Given the description of an element on the screen output the (x, y) to click on. 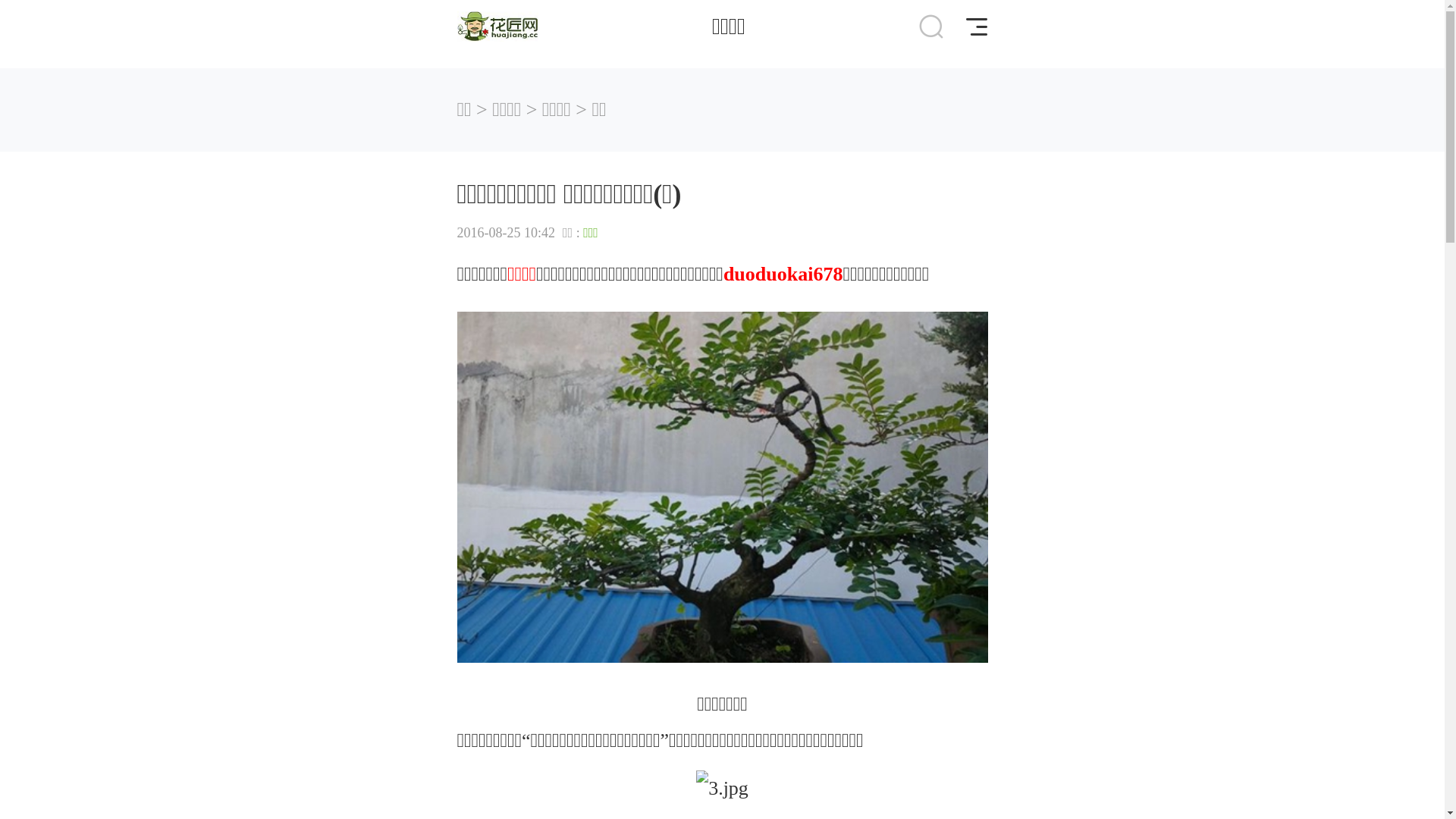
1472092694102415.jpg Element type: hover (722, 788)
1472092684601670.jpg Element type: hover (721, 486)
